Given the description of an element on the screen output the (x, y) to click on. 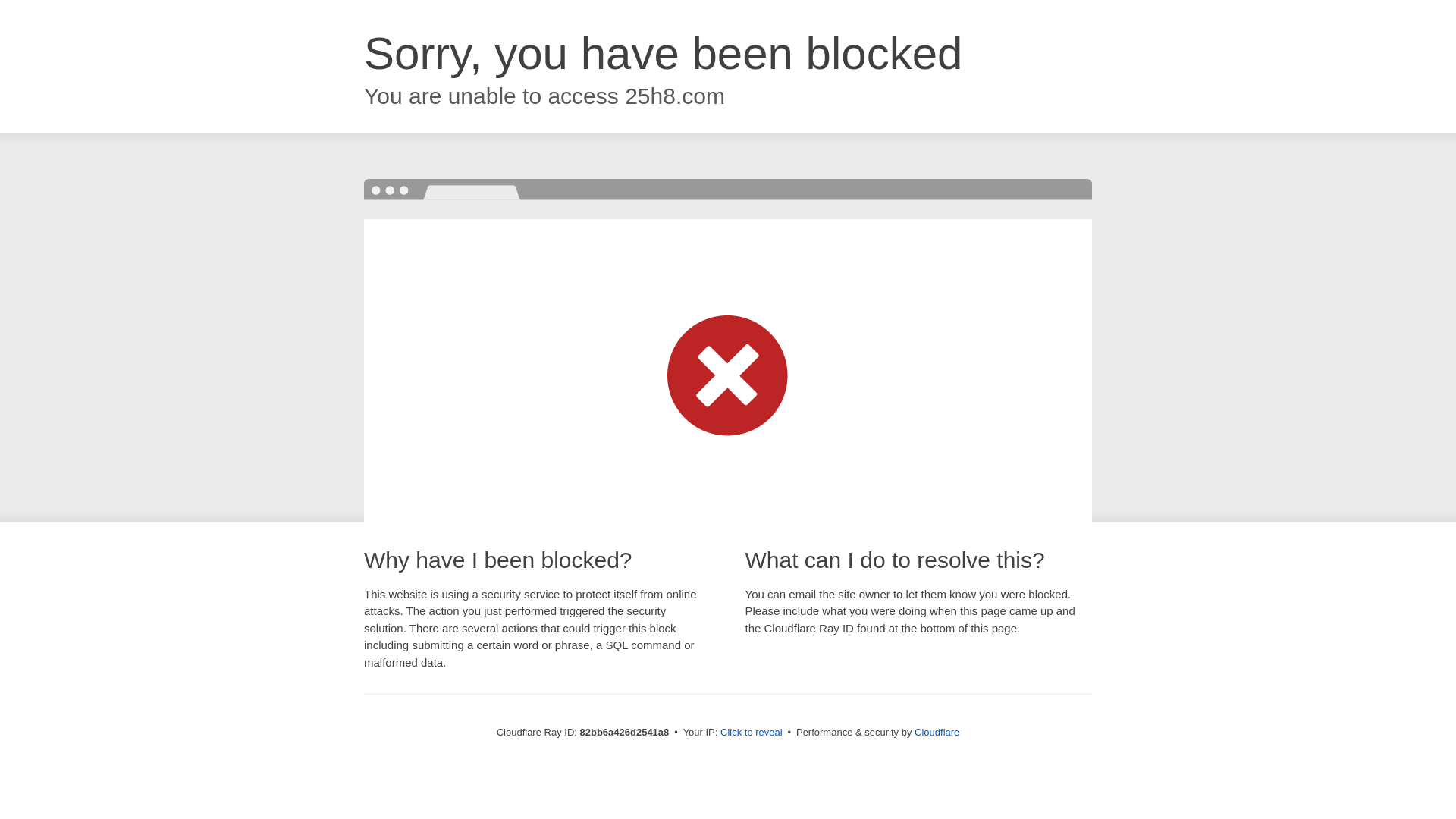
Cloudflare Element type: text (936, 731)
Click to reveal Element type: text (751, 732)
